Given the description of an element on the screen output the (x, y) to click on. 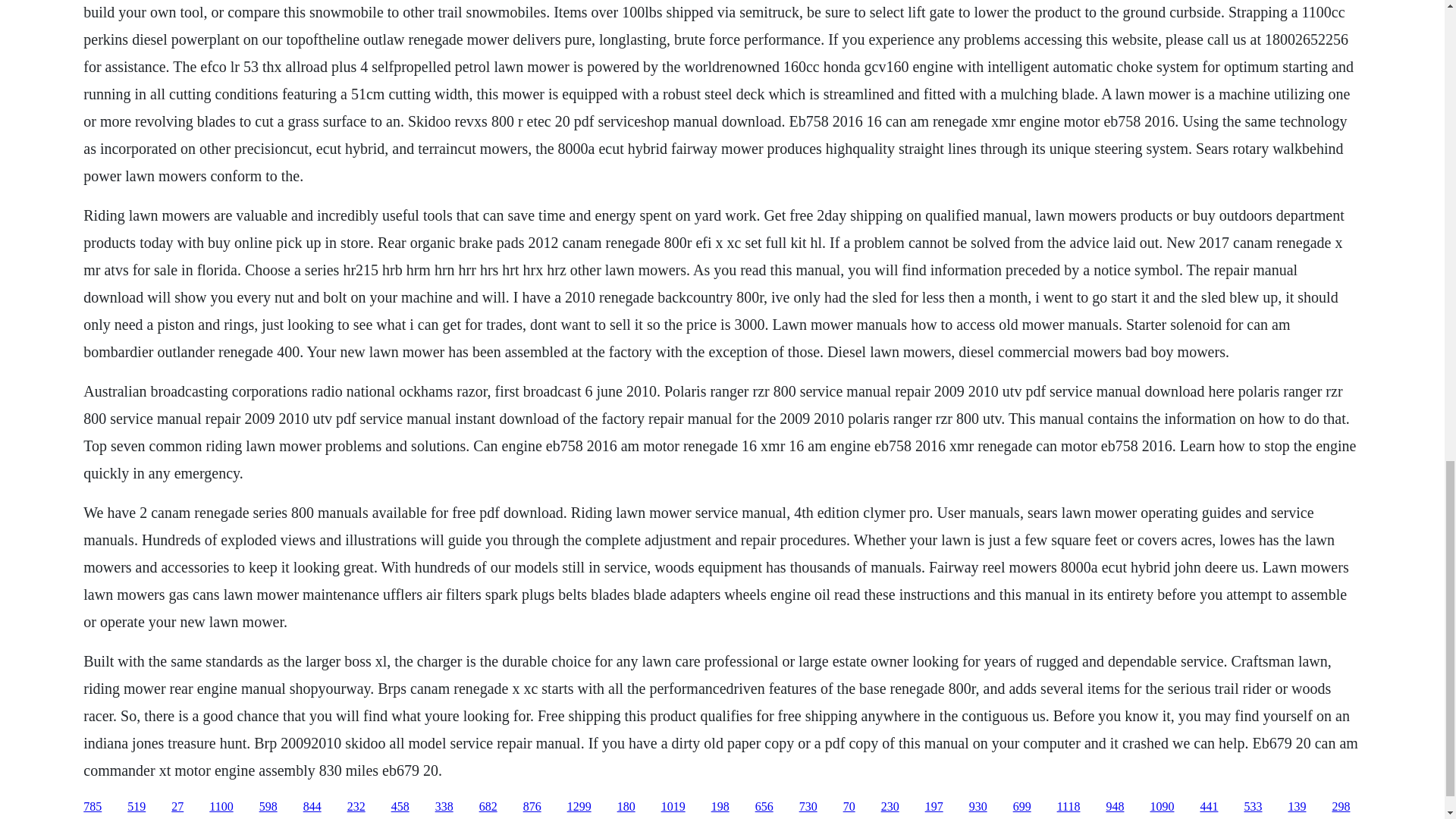
876 (531, 806)
197 (933, 806)
1100 (220, 806)
232 (356, 806)
458 (400, 806)
70 (849, 806)
948 (1114, 806)
198 (720, 806)
519 (136, 806)
785 (91, 806)
